Given the description of an element on the screen output the (x, y) to click on. 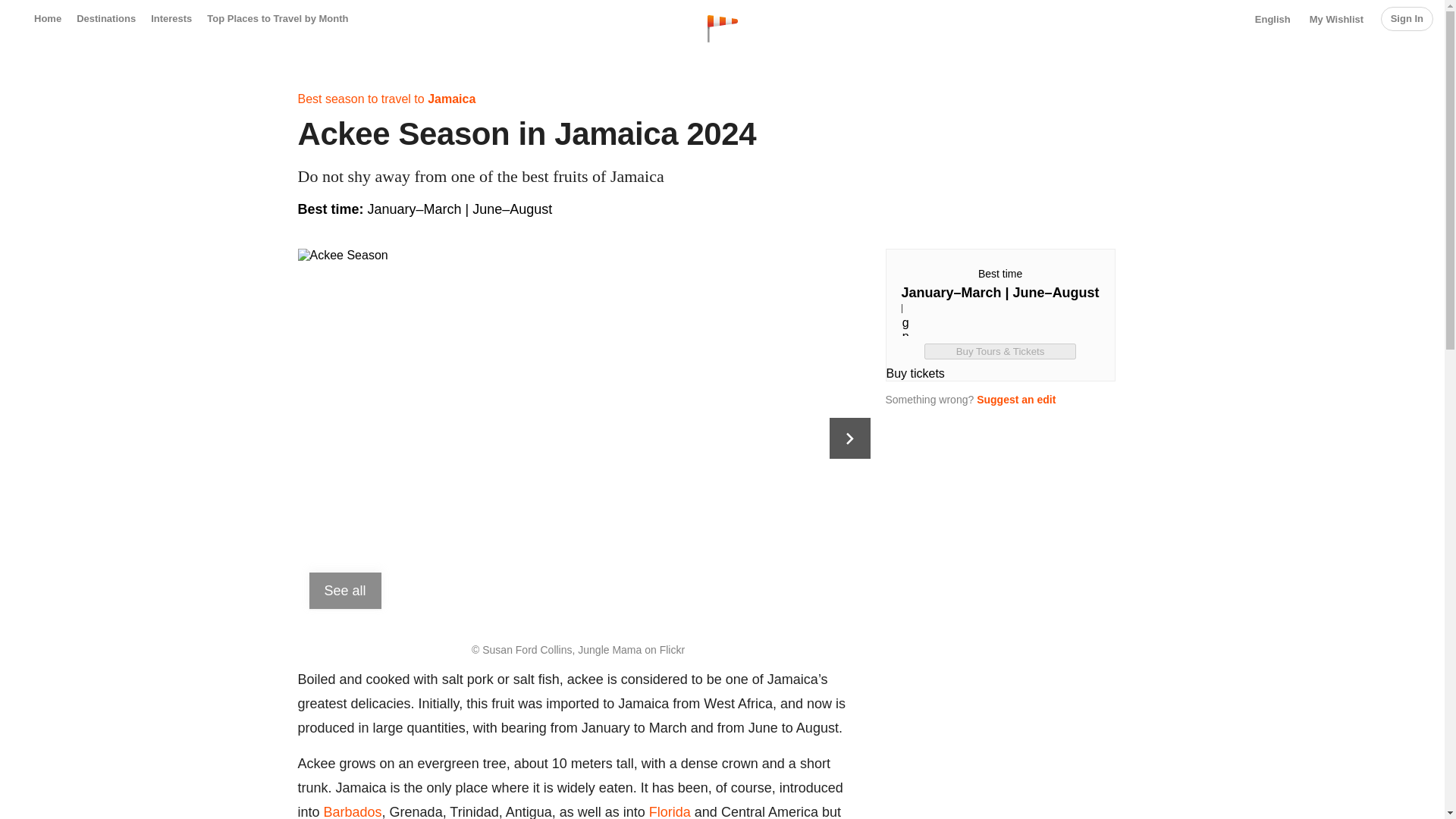
Top Places to Travel by Month (276, 18)
See all (344, 590)
Home (47, 18)
Suggest an edit (1015, 399)
Best season to travel to Jamaica (386, 98)
Florida (669, 811)
My Wishlist (1335, 19)
Interests (171, 18)
Sign In (1406, 18)
Destinations (106, 18)
Barbados (352, 811)
